Given the description of an element on the screen output the (x, y) to click on. 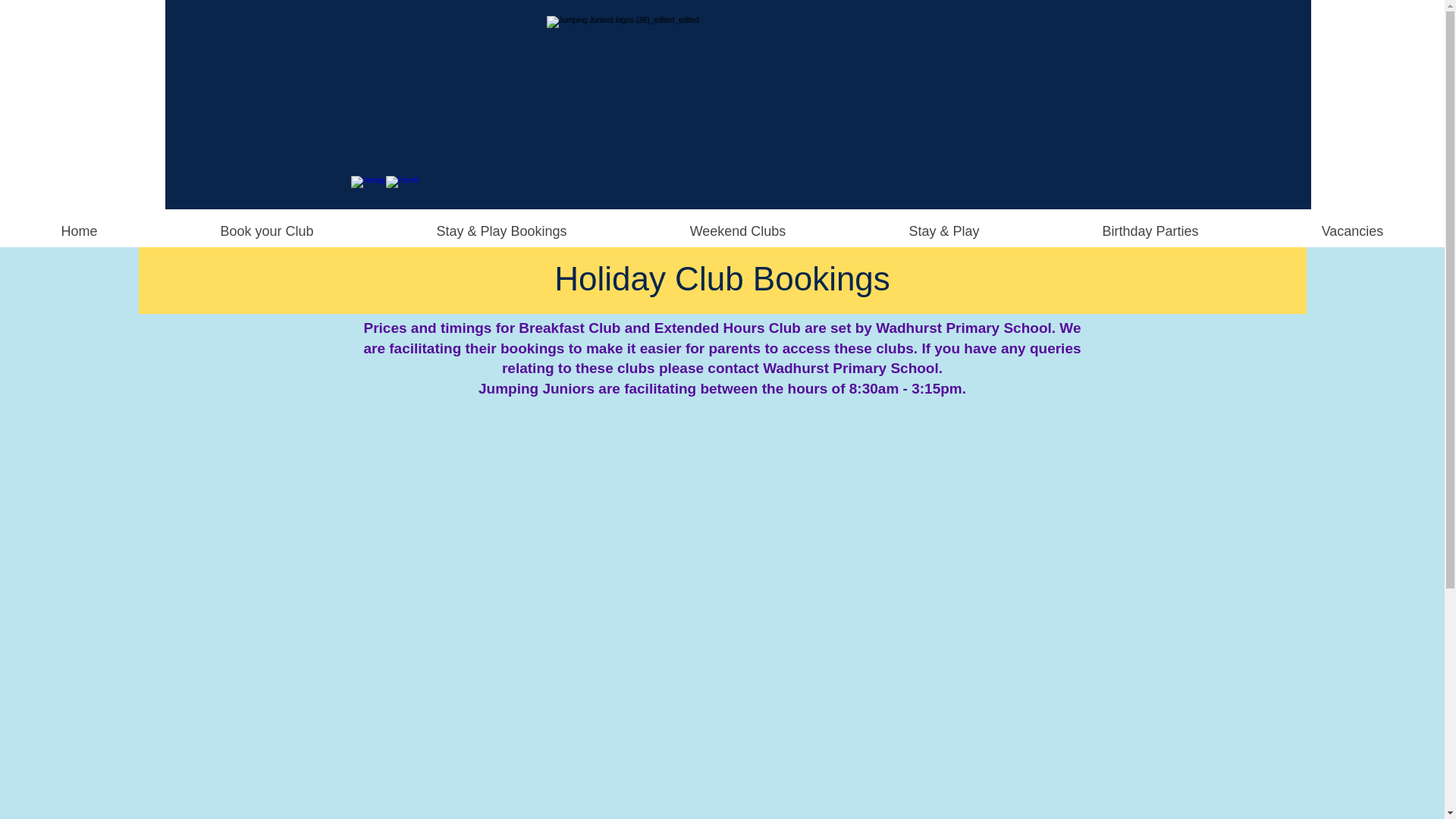
Book your Club (266, 231)
Home (79, 231)
Birthday Parties (1150, 231)
Weekend Clubs (737, 231)
